Given the description of an element on the screen output the (x, y) to click on. 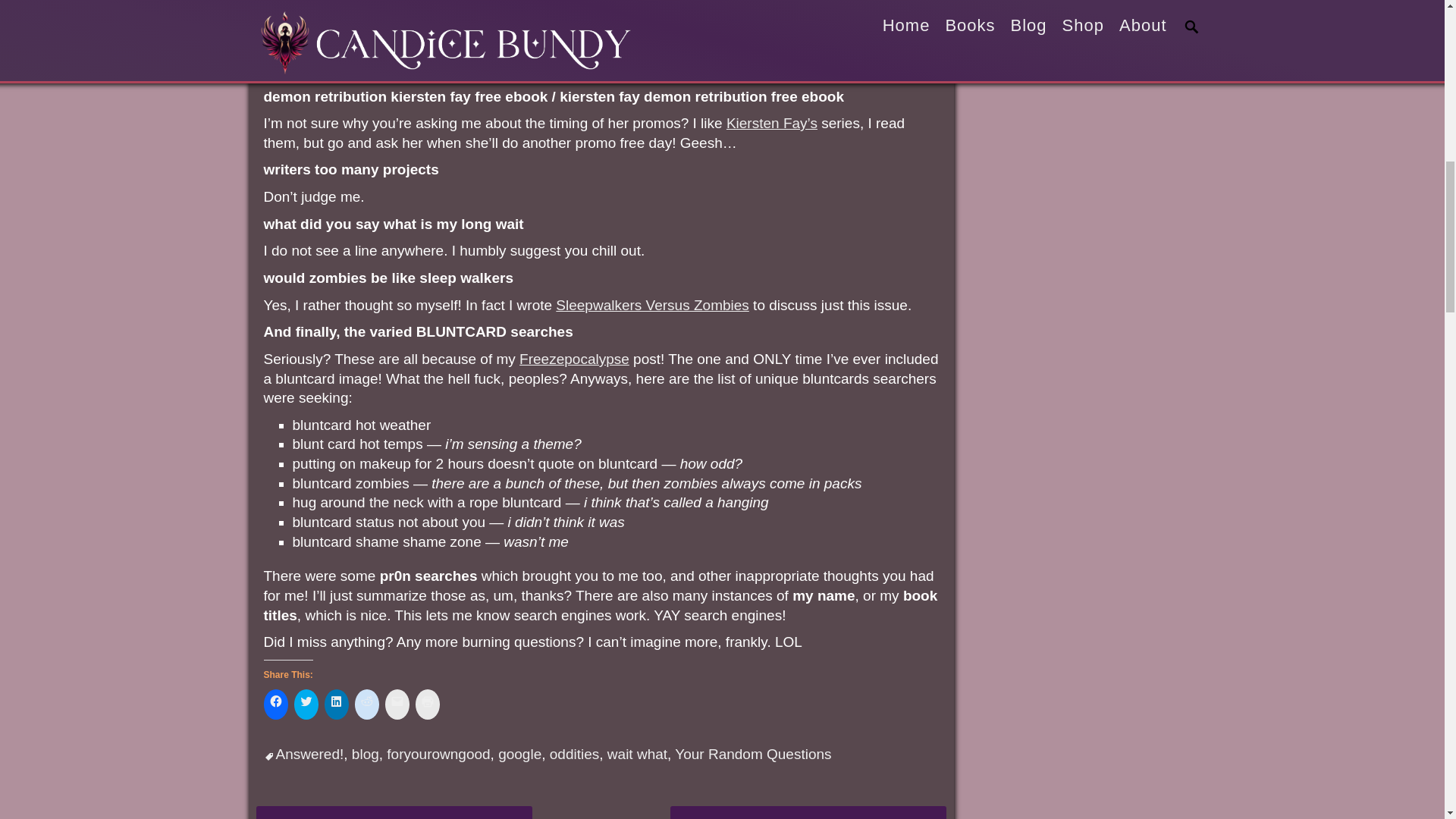
Sleepwalkers Versus Zombies (652, 304)
Kiersten Fay (771, 123)
Freezepocalypse (573, 358)
Freezepocalypse (573, 358)
Sleepwalkers Versus Zombies (652, 304)
Jen Kirchner, Snake Plissken Expert (592, 49)
Jen Kirchner (592, 49)
